Given the description of an element on the screen output the (x, y) to click on. 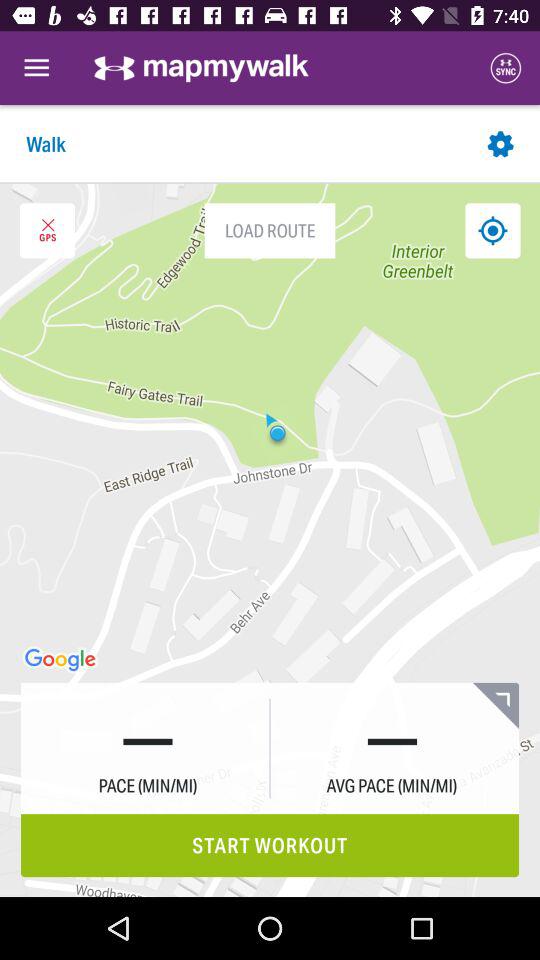
full screen (495, 705)
